Given the description of an element on the screen output the (x, y) to click on. 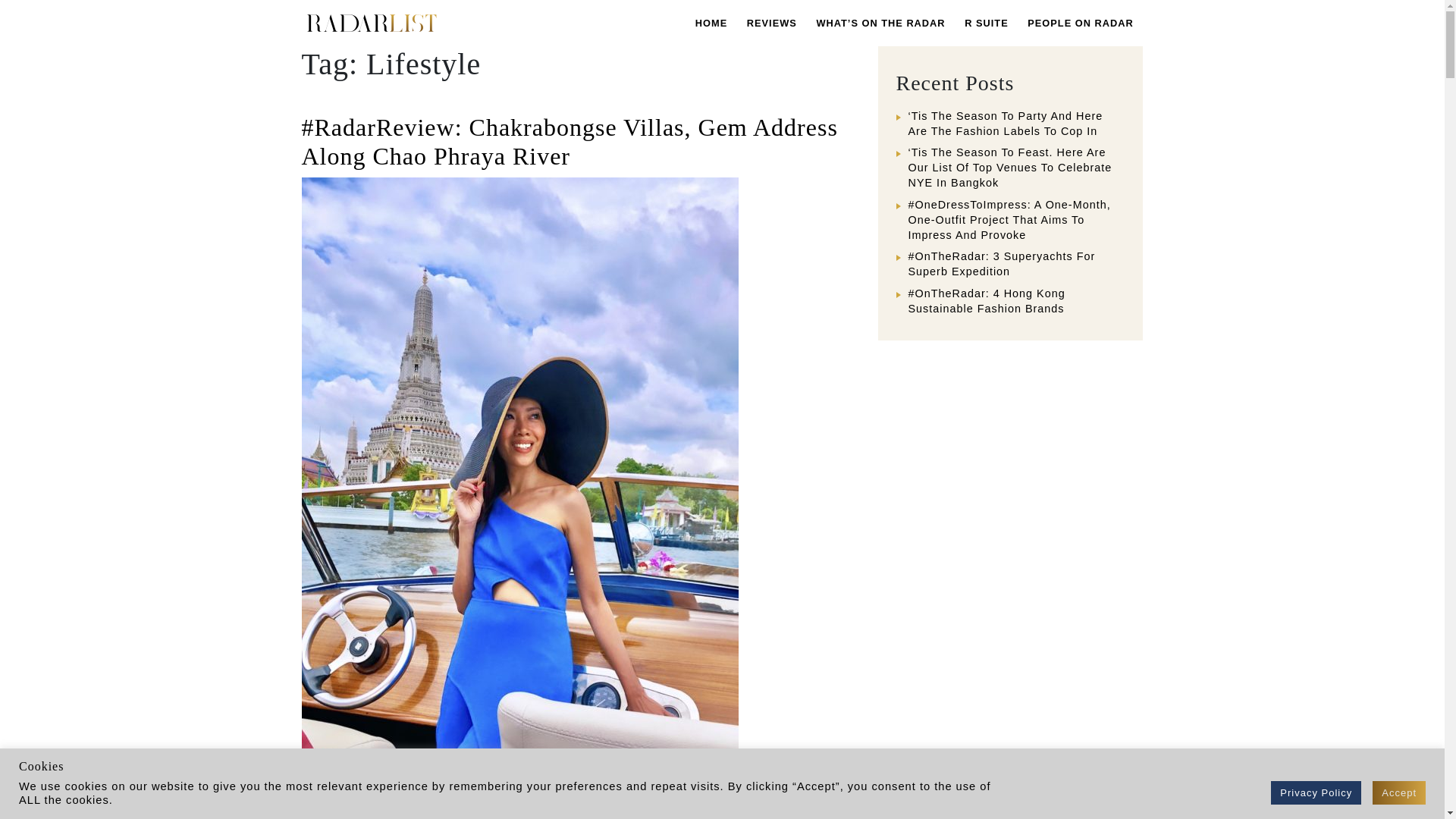
Home (710, 22)
PEOPLE ON RADAR (1079, 22)
REVIEWS (771, 22)
HOME (710, 22)
R SUITE (986, 22)
R SUITE (986, 22)
REVIEWS (771, 22)
PEOPLE ON RADAR (1079, 22)
